Given the description of an element on the screen output the (x, y) to click on. 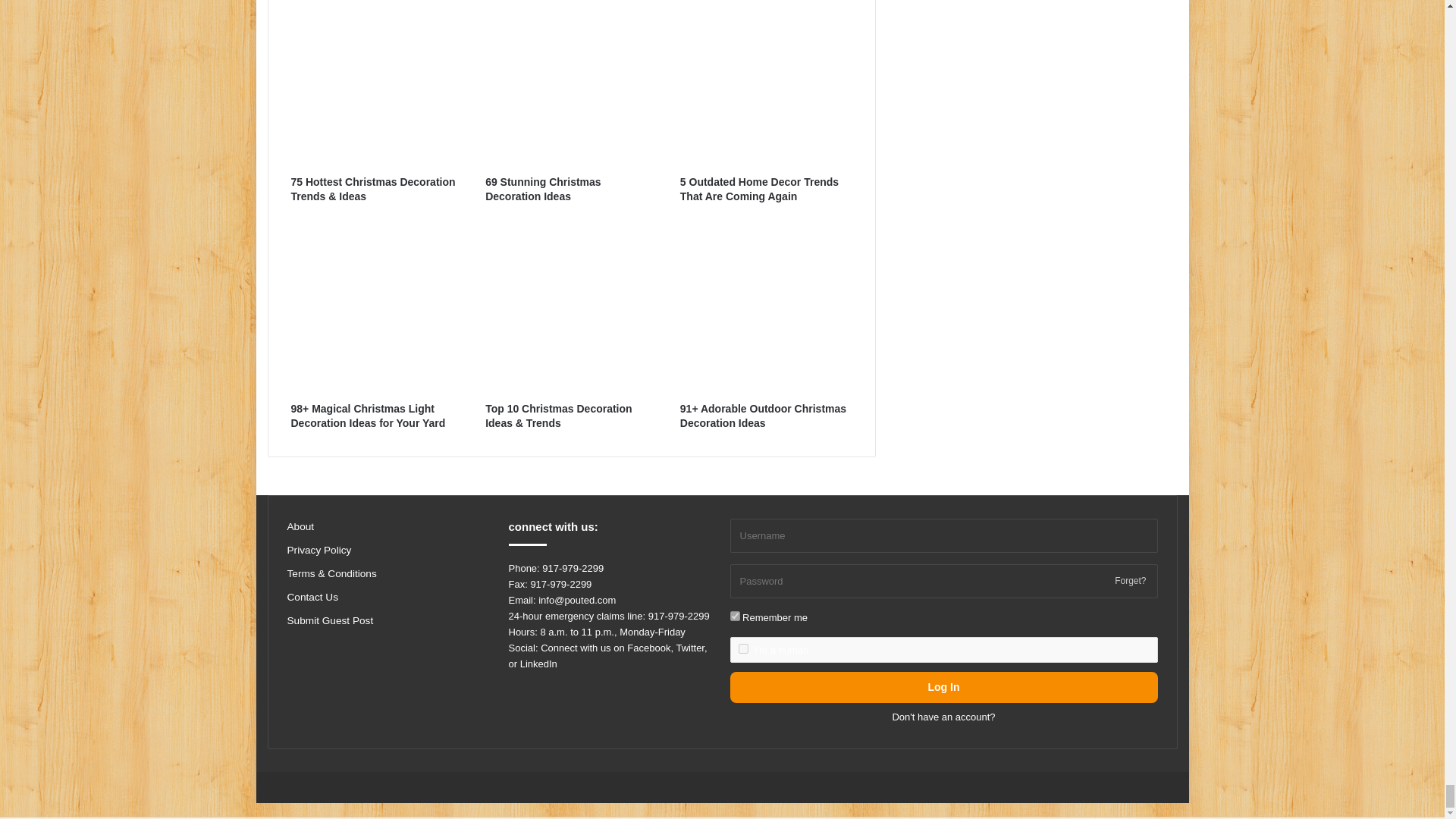
forever (734, 615)
on (743, 648)
